Given the description of an element on the screen output the (x, y) to click on. 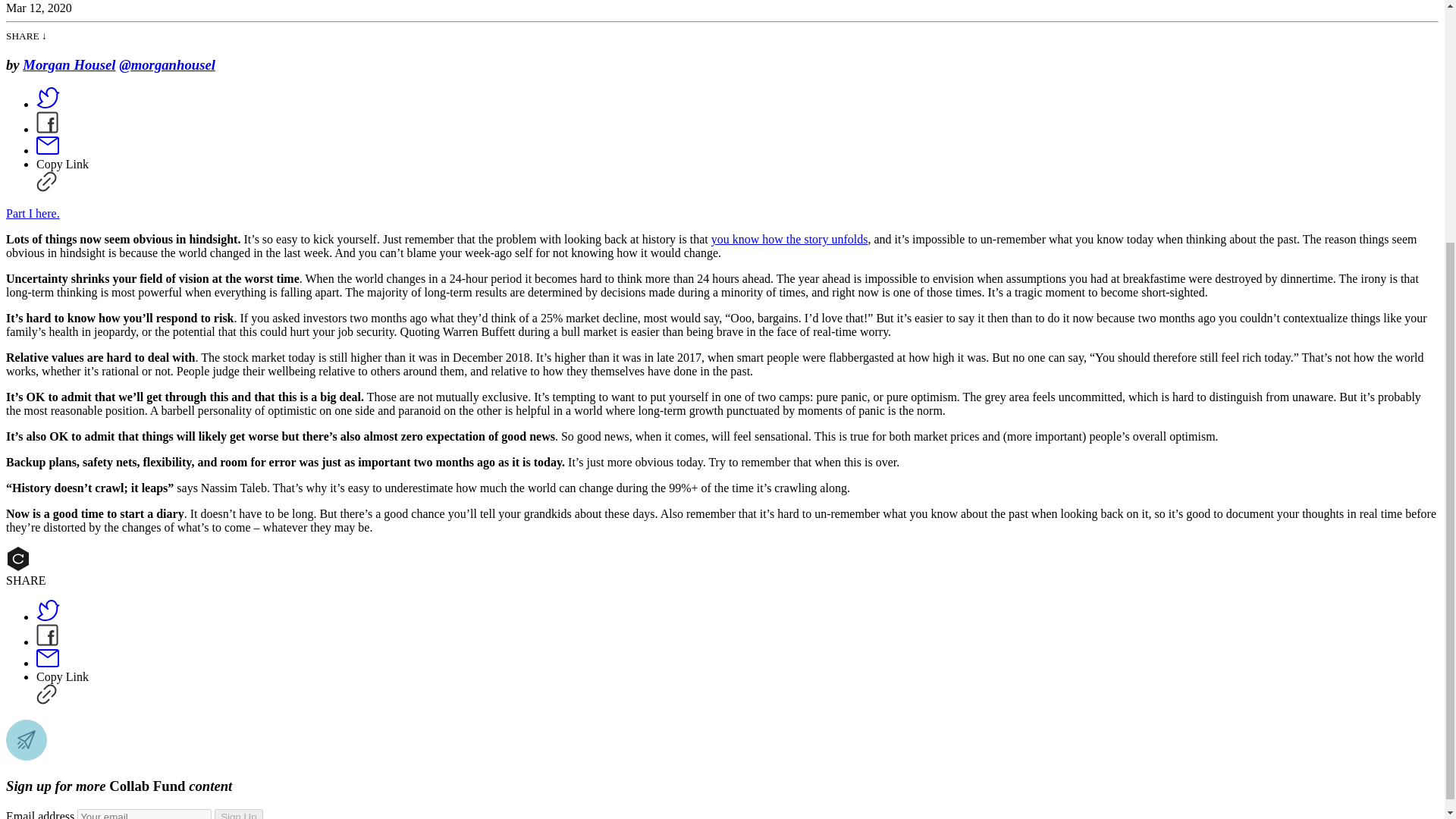
Share on Twitter (47, 616)
Part I here. (32, 213)
Email this article (47, 150)
Email this article (47, 662)
you know how the story unfolds (789, 238)
Share on Facebook (47, 128)
Share on Twitter (47, 103)
Share on Facebook (47, 641)
Morgan Housel (69, 64)
